Given the description of an element on the screen output the (x, y) to click on. 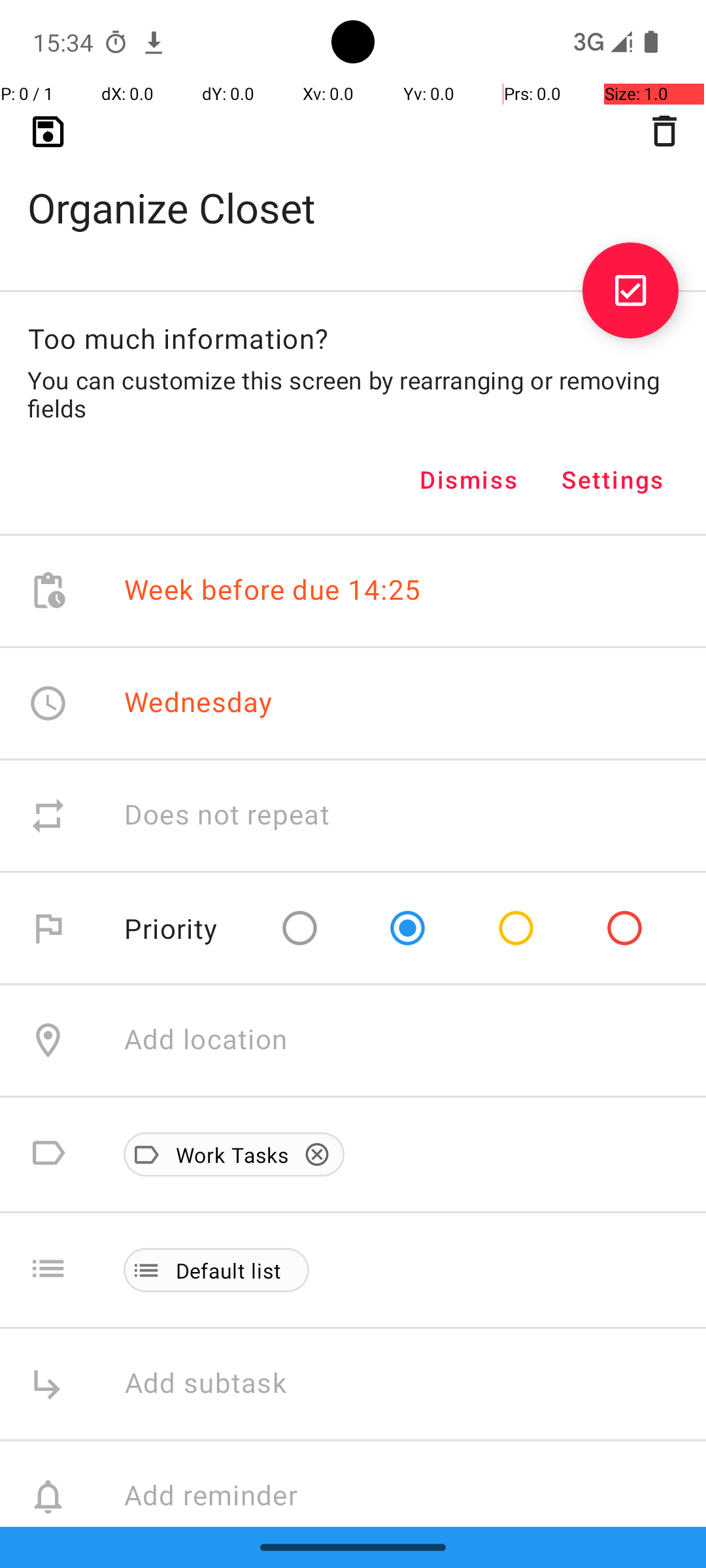
Week before due 14:25 Element type: android.widget.TextView (272, 590)
Work Tasks Element type: android.widget.TextView (225, 1154)
